Given the description of an element on the screen output the (x, y) to click on. 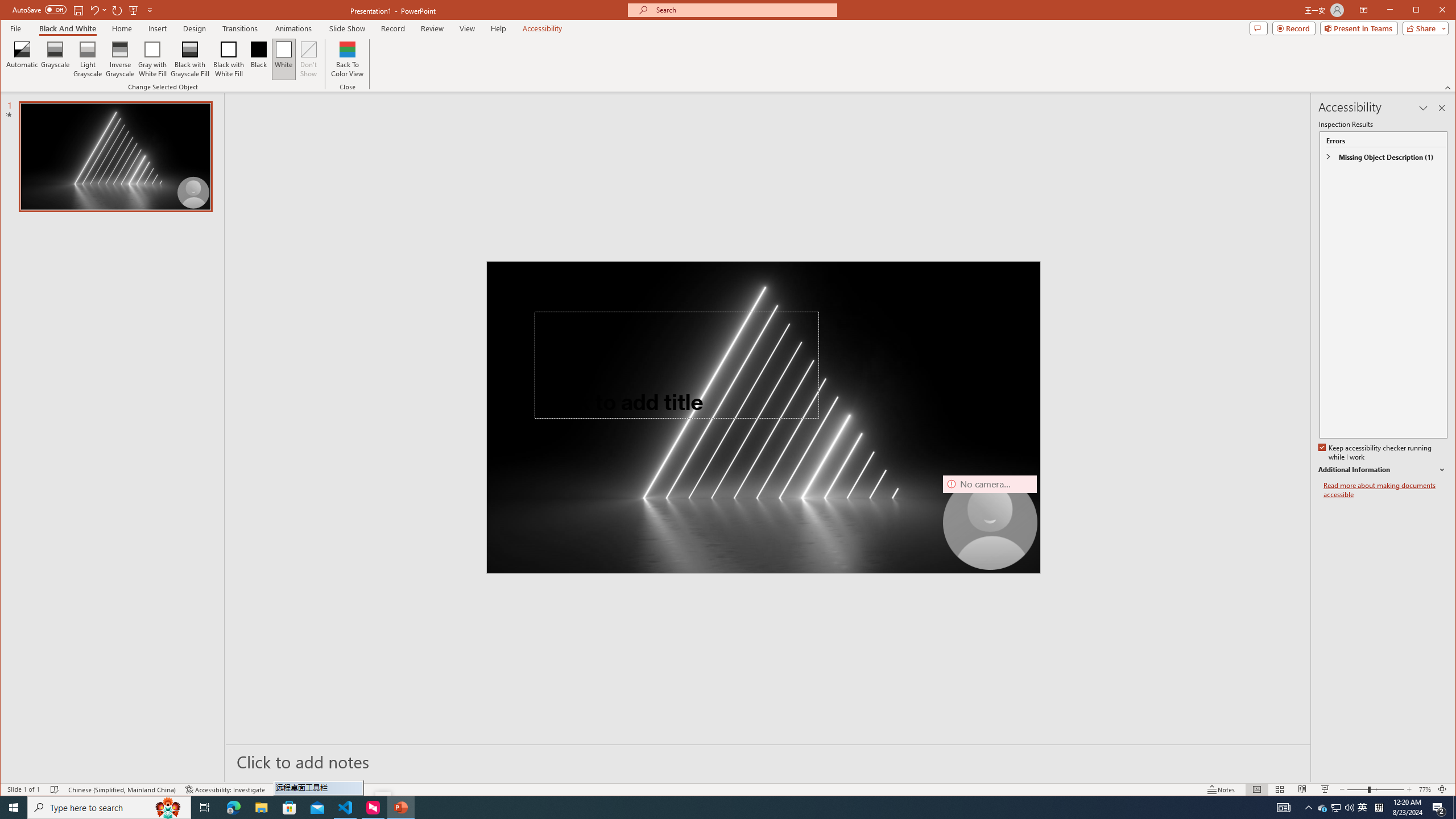
Maximize (1432, 11)
Read more about making documents accessible (1385, 489)
Keep accessibility checker running while I work (1375, 452)
Title TextBox (676, 365)
Camera 7, No camera detected. (990, 522)
